Given the description of an element on the screen output the (x, y) to click on. 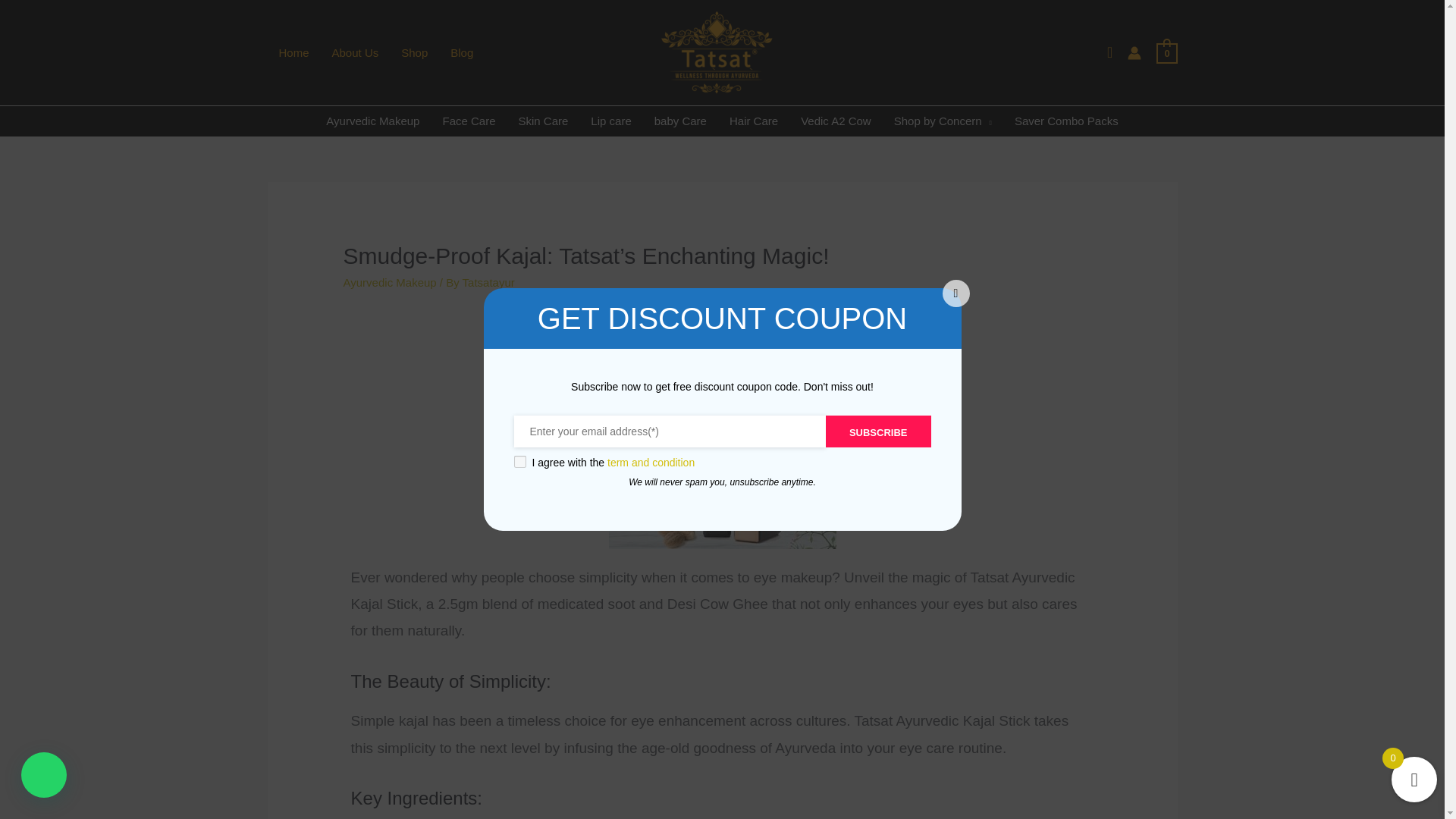
on (519, 461)
Skin Care (542, 121)
Shop (414, 51)
Shop by Concern (942, 121)
Lip care (610, 121)
Hair Care (753, 121)
baby Care (680, 121)
Ayurvedic Makeup (372, 121)
View all posts by Tatsatayur (489, 282)
0 (1166, 51)
About Us (355, 51)
Saver Combo Packs (1066, 121)
Home (293, 51)
Blog (461, 51)
Face Care (468, 121)
